Given the description of an element on the screen output the (x, y) to click on. 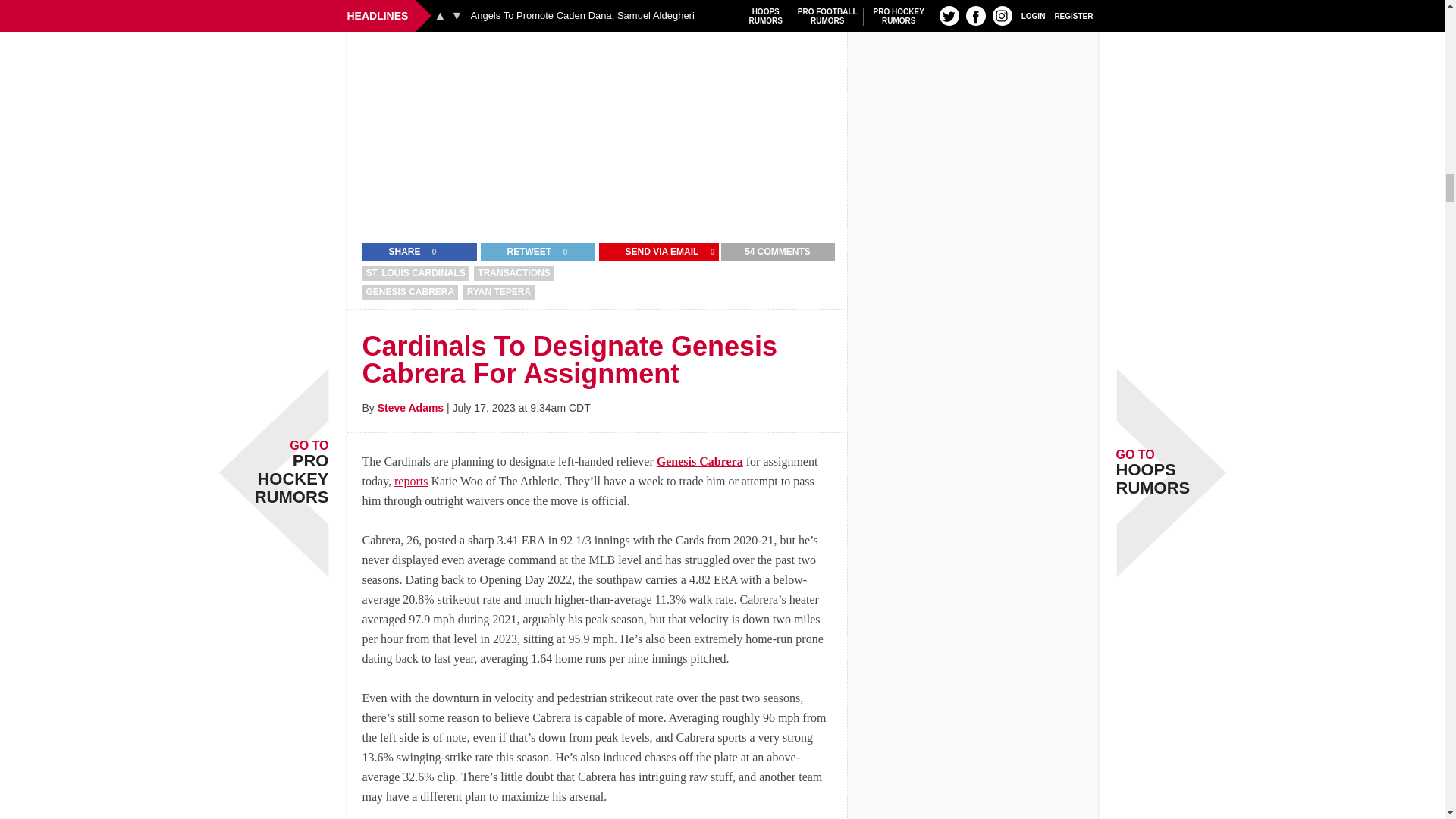
Retweet 'Cardinals Sign Ryan Tepera' on Twitter (519, 251)
Send Cardinals Sign Ryan Tepera with an email (652, 251)
Share 'Cardinals Sign Ryan Tepera' on Facebook (395, 251)
